Given the description of an element on the screen output the (x, y) to click on. 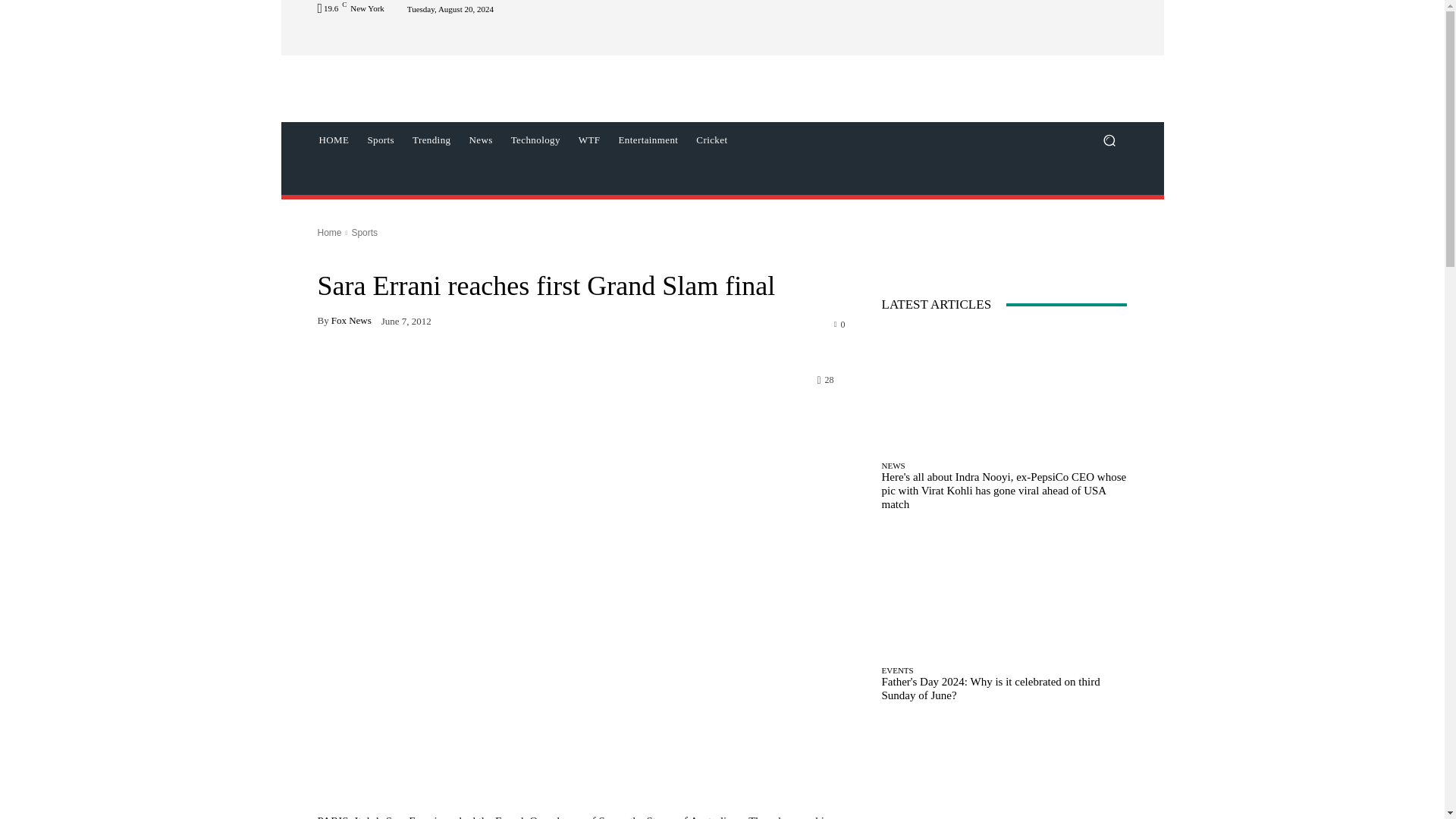
WTF (589, 140)
Fox News (351, 320)
Cricket (711, 140)
News (480, 140)
Home (328, 232)
Technology (535, 140)
Sports (380, 140)
Entertainment (648, 140)
View all posts in Sports (363, 232)
Trending (431, 140)
